Given the description of an element on the screen output the (x, y) to click on. 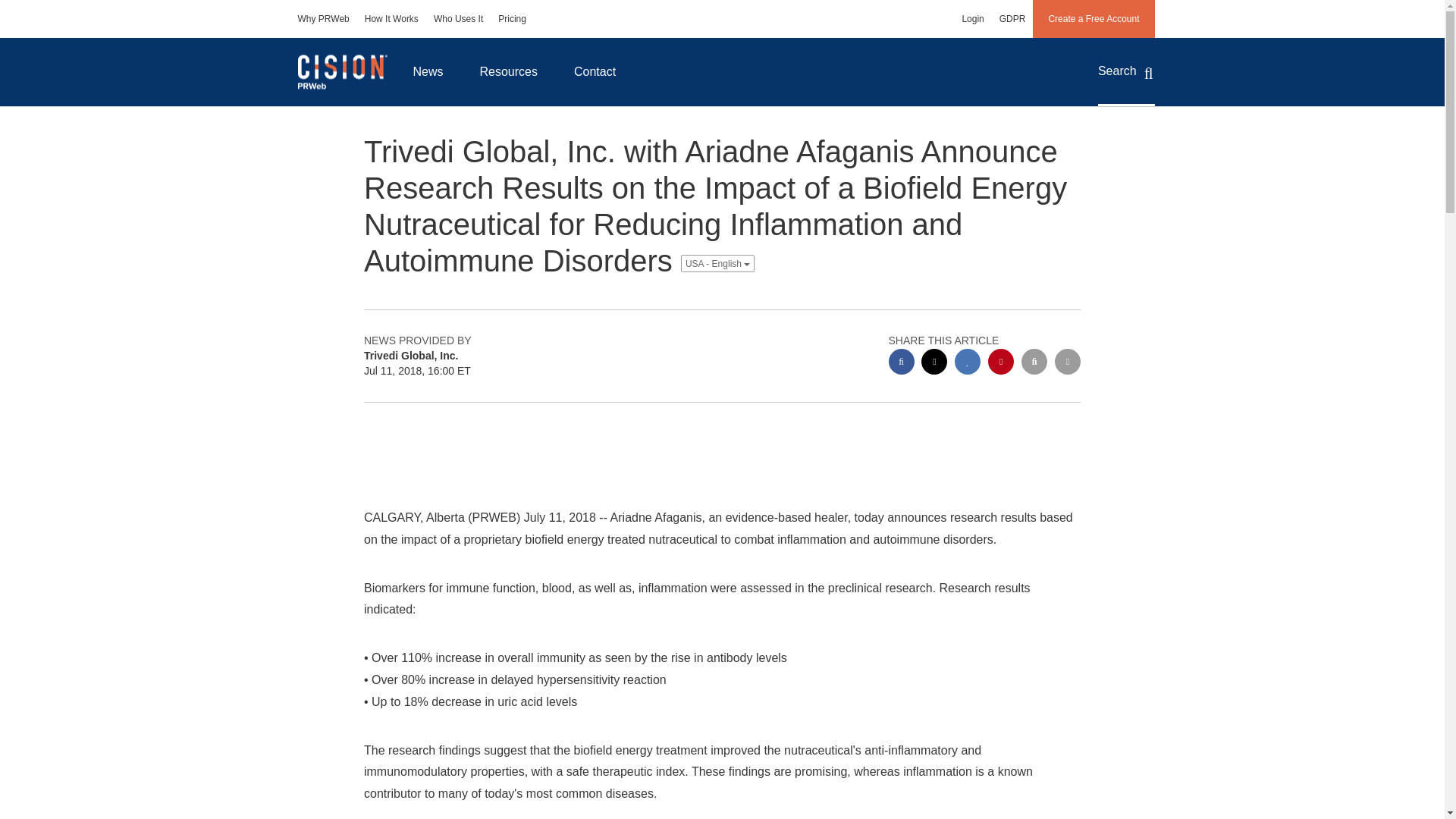
Resources (508, 71)
How It Works (391, 18)
News (427, 71)
GDPR (1012, 18)
Why PRWeb (322, 18)
Contact (594, 71)
Pricing (512, 18)
Who Uses It (458, 18)
Login (972, 18)
